Given the description of an element on the screen output the (x, y) to click on. 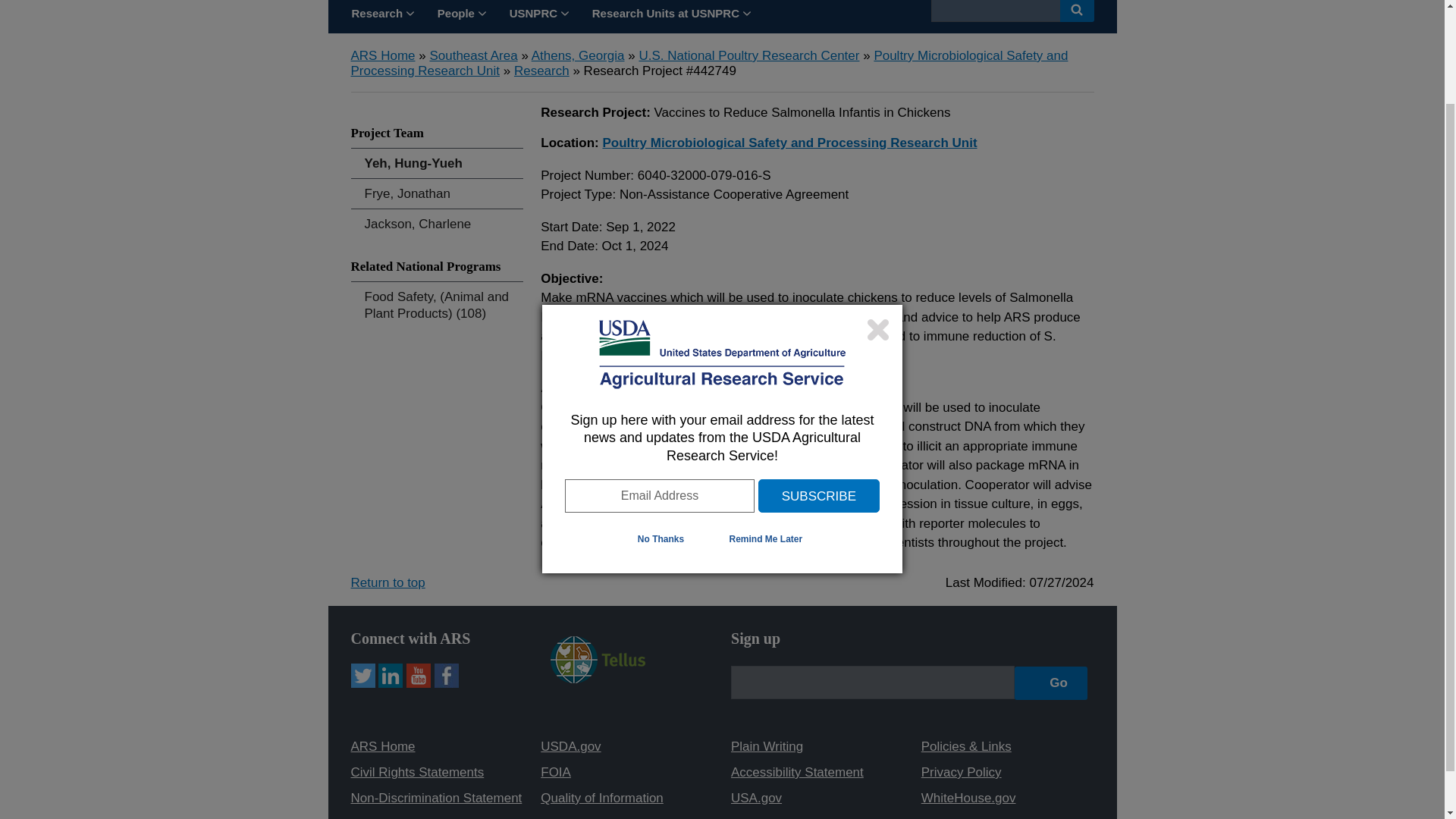
Subscribe (818, 381)
Athens, Georgia (577, 55)
Research (382, 16)
Go (1050, 682)
Close subscription dialog (877, 215)
Jackson, Charlene (436, 224)
Southeast Area (472, 55)
Yeh, Hung-Yueh (436, 163)
email (872, 682)
Email Address (659, 381)
Tellus (597, 678)
ARS Home (382, 55)
Research Units at USNPRC (670, 16)
Research (541, 70)
Youtube (418, 674)
